Given the description of an element on the screen output the (x, y) to click on. 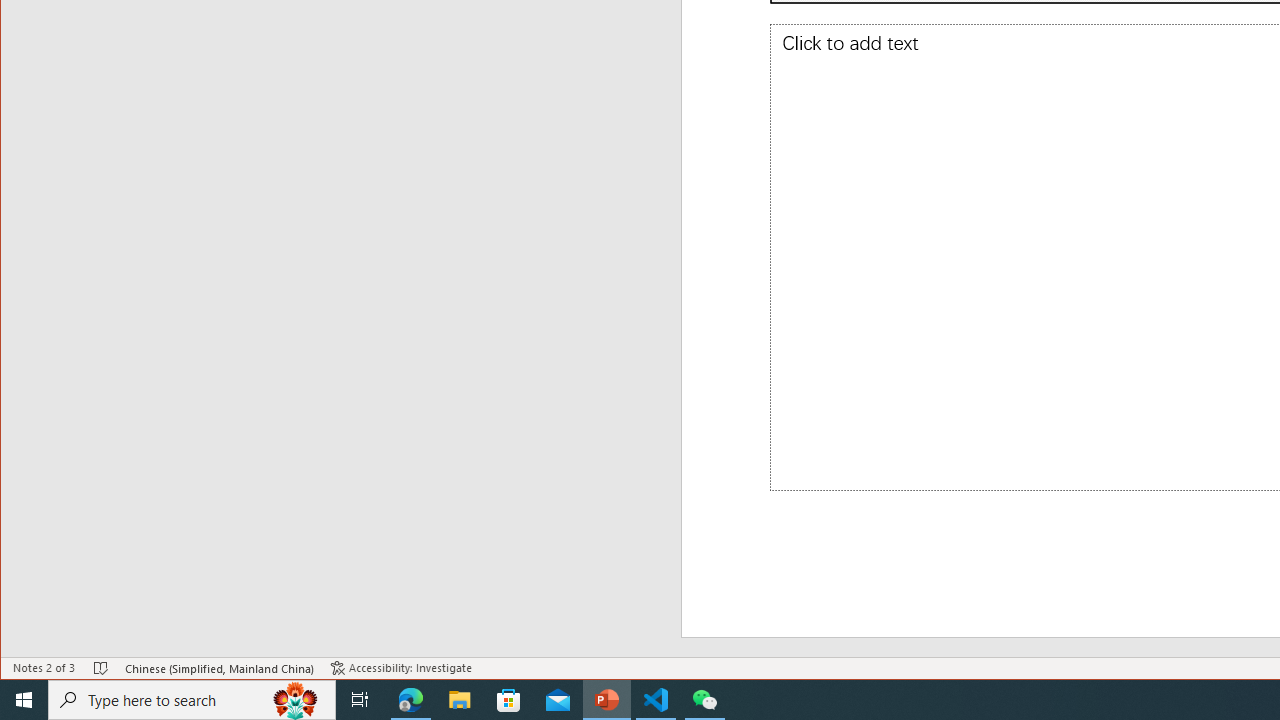
File Explorer (460, 699)
Start (24, 699)
Search highlights icon opens search home window (295, 699)
Visual Studio Code - 1 running window (656, 699)
Type here to search (191, 699)
Microsoft Edge - 1 running window (411, 699)
Accessibility Checker Accessibility: Investigate (401, 668)
WeChat - 1 running window (704, 699)
Task View (359, 699)
PowerPoint - 1 running window (607, 699)
Spell Check No Errors (101, 668)
Microsoft Store (509, 699)
